Given the description of an element on the screen output the (x, y) to click on. 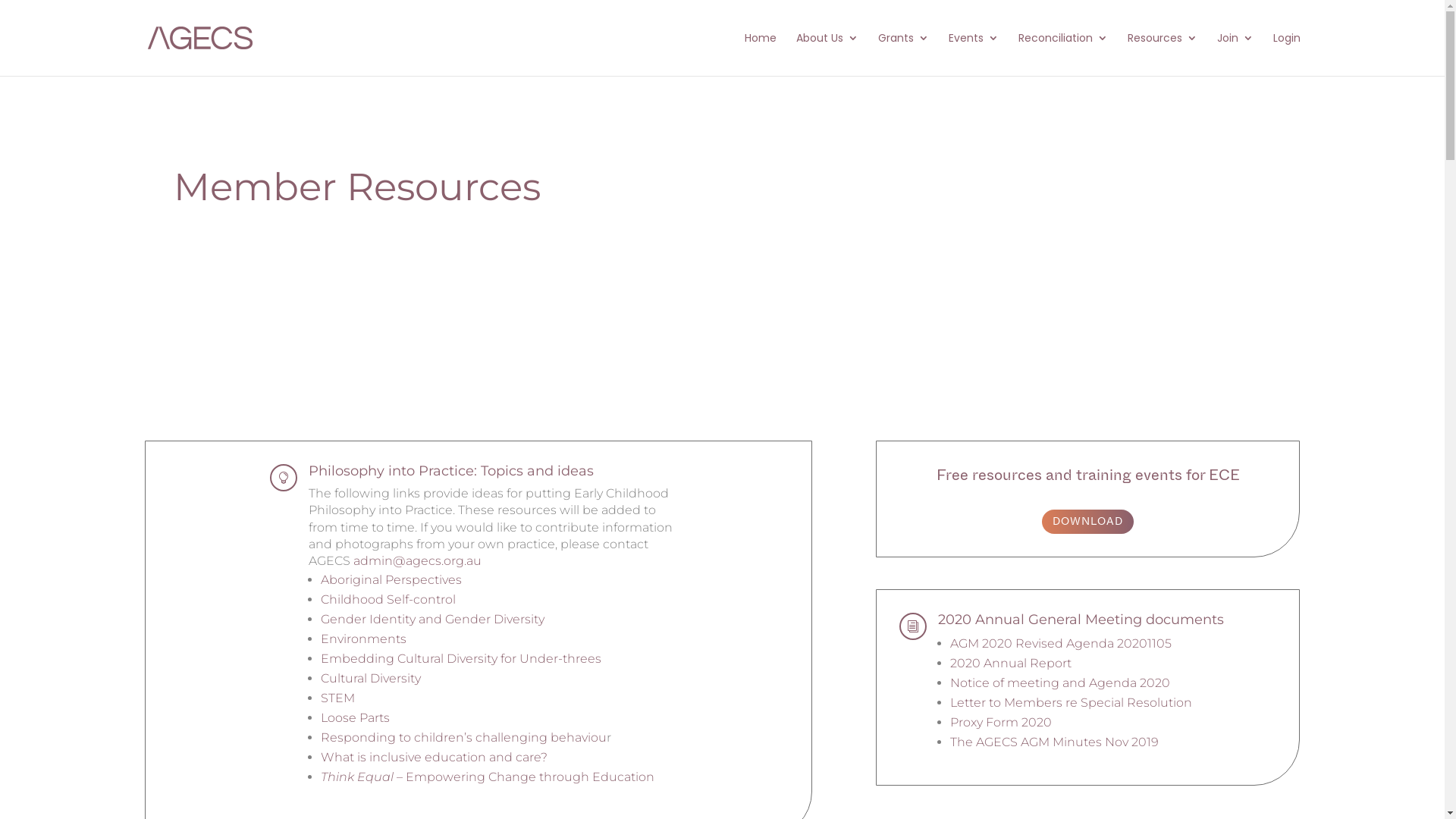
Proxy Form 2020 Element type: text (1000, 722)
2020 Annual Report Element type: text (1010, 662)
Childhood Self-control Element type: text (387, 599)
Loose Parts Element type: text (354, 717)
Login Element type: text (1285, 53)
Environments Element type: text (363, 638)
Home Element type: text (760, 53)
Aboriginal Perspectives Element type: text (390, 579)
Join Element type: text (1234, 53)
Embedding Cultural Diversity for Under-threes Element type: text (460, 658)
Grants Element type: text (903, 53)
Cultural Diversity Element type: text (370, 678)
Gender Identity and Gender Diversity Element type: text (432, 618)
AGM 2020 Revised Agenda 20201105 Element type: text (1060, 643)
What is inclusive education and care? Element type: text (433, 756)
Notice of meeting and Agenda 2020 Element type: text (1060, 682)
admin@agecs.org.au Element type: text (417, 560)
Reconciliation Element type: text (1062, 53)
STEM Element type: text (337, 697)
DOWNLOAD Element type: text (1087, 521)
Letter to Members re Special Resolution Element type: text (1071, 702)
Events Element type: text (972, 53)
The AGECS AGM Minutes Nov 2019 Element type: text (1054, 741)
Resources Element type: text (1161, 53)
About Us Element type: text (827, 53)
